Given the description of an element on the screen output the (x, y) to click on. 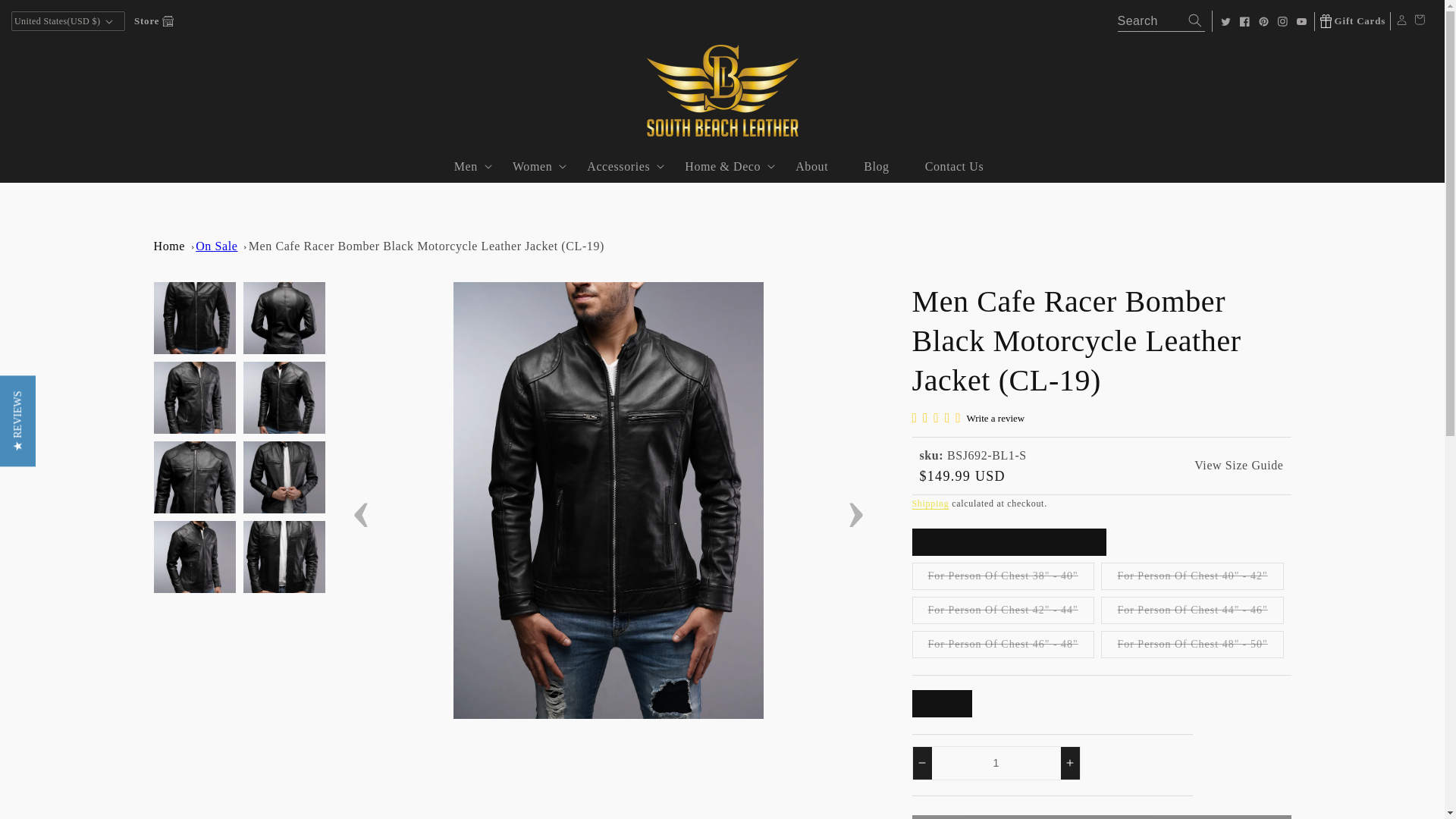
Skip to content (45, 16)
Cart (1419, 21)
Store (153, 20)
Pinterest (1262, 21)
Facebook (1243, 21)
YouTube (1301, 21)
1 (995, 762)
